Given the description of an element on the screen output the (x, y) to click on. 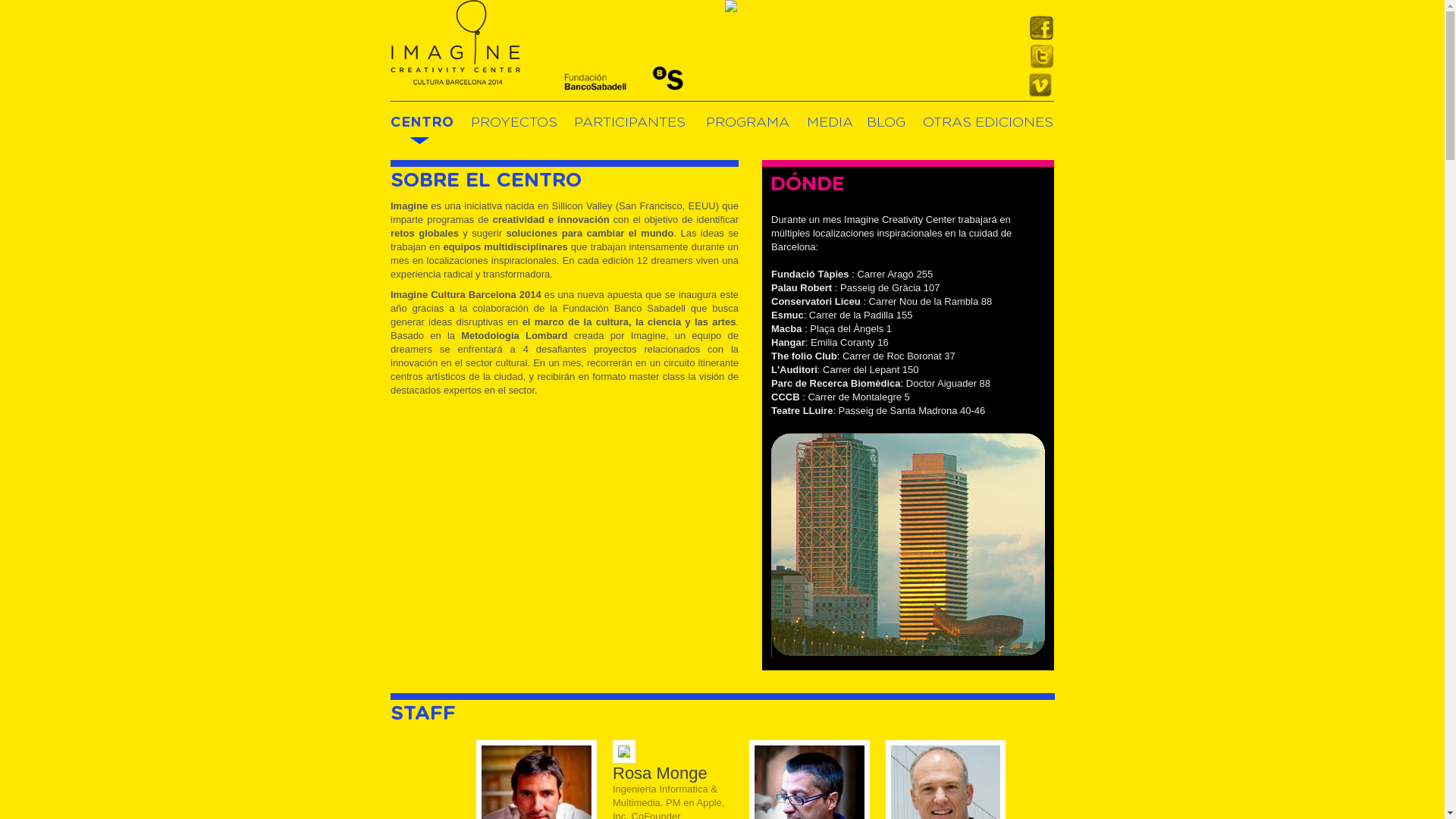
BLOG Element type: text (885, 122)
PROYECTOS Element type: text (513, 122)
MEDIA Element type: text (829, 122)
Rosa Monge Element type: hover (623, 759)
PARTICIPANTES Element type: text (629, 122)
OTRAS EDICIONES Element type: text (987, 122)
PROGRAMA Element type: text (747, 122)
CENTRO Element type: text (421, 122)
